Given the description of an element on the screen output the (x, y) to click on. 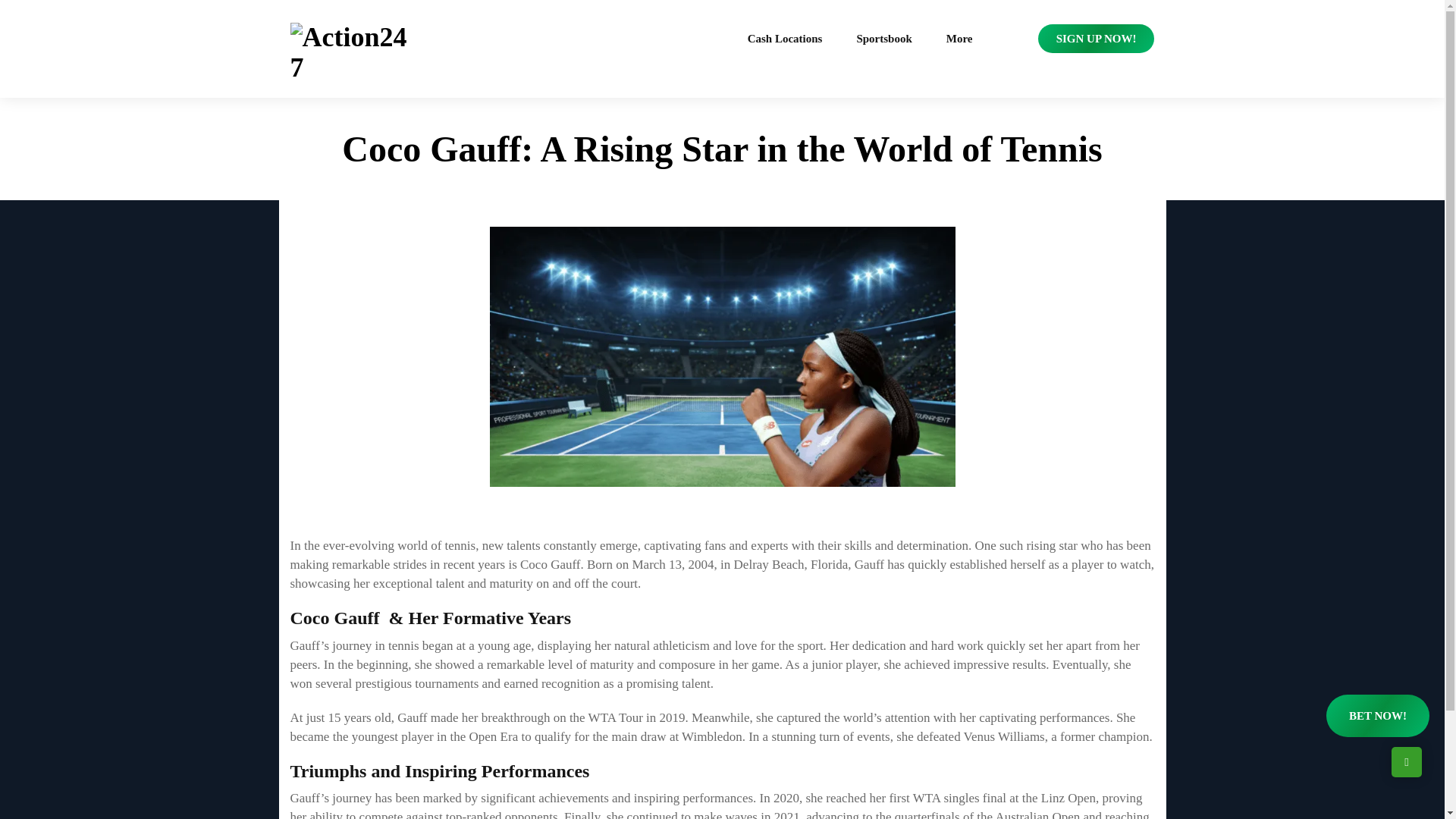
Cash Locations (785, 38)
More (959, 38)
Sportsbook (883, 38)
SIGN UP NOW! (1096, 38)
